Given the description of an element on the screen output the (x, y) to click on. 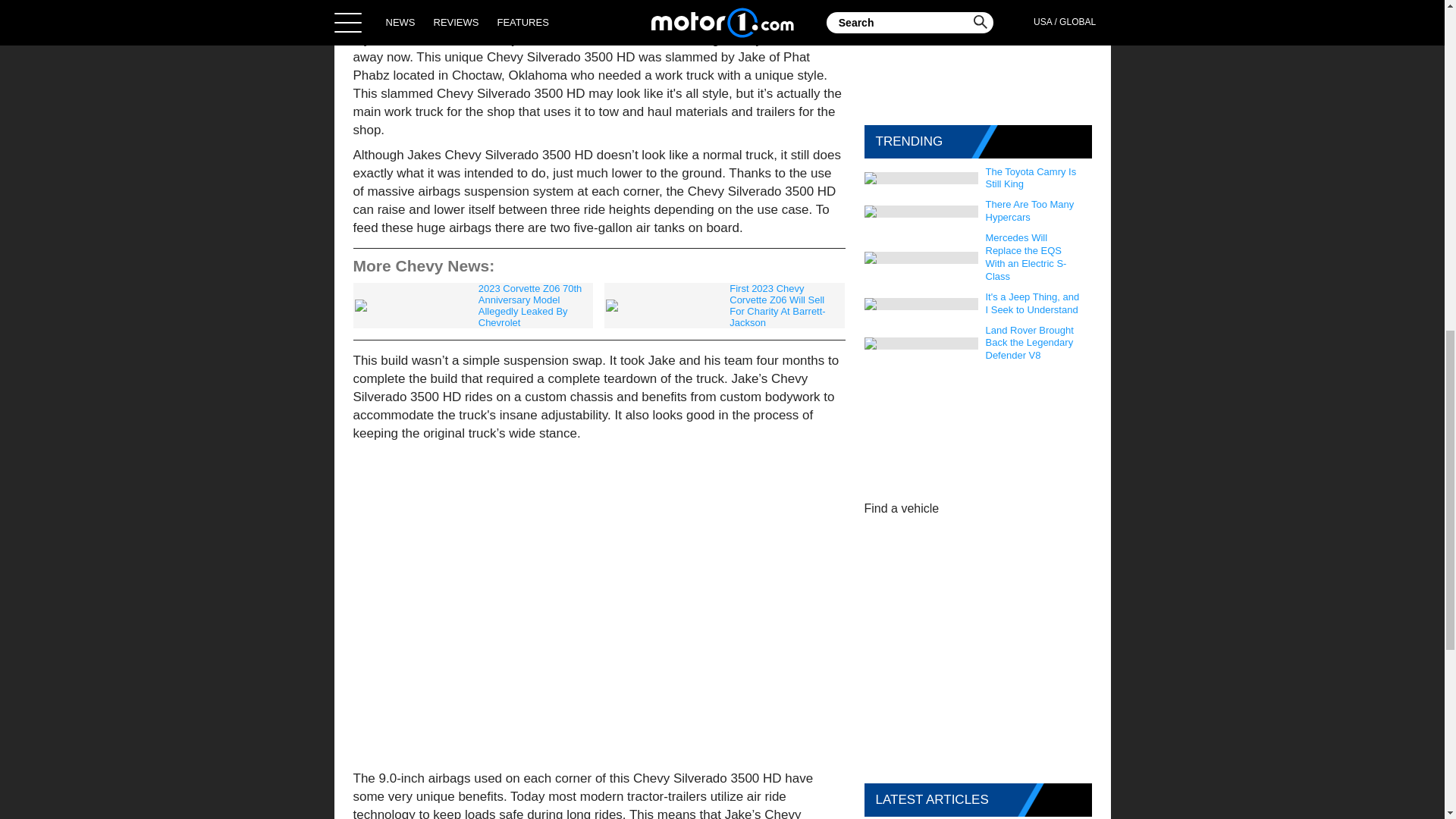
The Toyota Camry Is Still King (1035, 178)
